Given the description of an element on the screen output the (x, y) to click on. 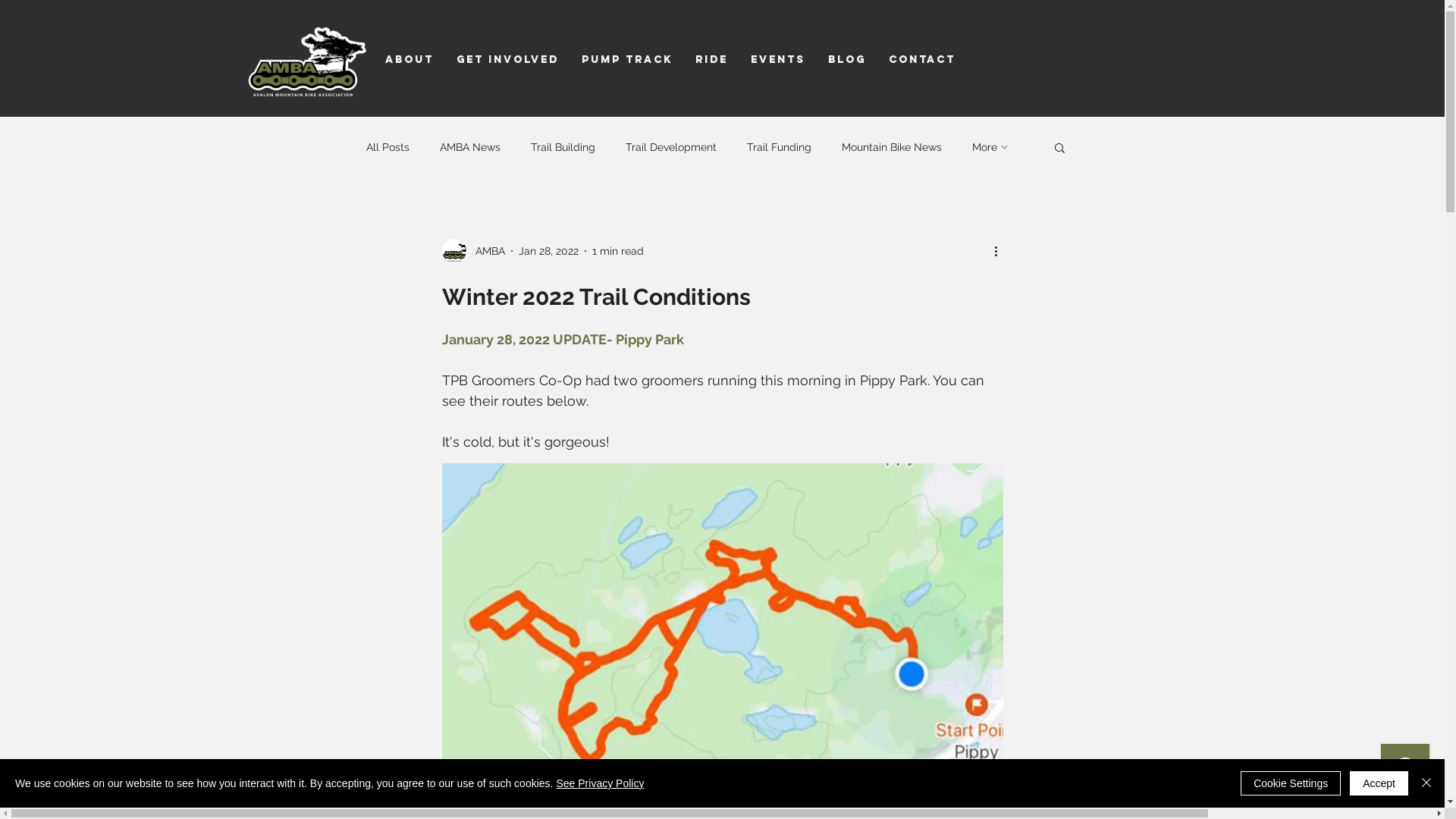
Trail Building Element type: text (562, 147)
Mountain Bike News Element type: text (891, 147)
AMBA News Element type: text (469, 147)
CONTACT Element type: text (921, 59)
EVENTS Element type: text (776, 59)
Trail Funding Element type: text (778, 147)
Cookie Settings Element type: text (1290, 783)
BLOG Element type: text (845, 59)
AMBA Element type: text (472, 250)
Pump Track Element type: text (627, 59)
Trail Development Element type: text (669, 147)
All Posts Element type: text (386, 147)
ABOUT Element type: text (408, 59)
Accept Element type: text (1378, 783)
GET INVOLVED Element type: text (506, 59)
Wix Chat Element type: hover (1408, 771)
RIDE Element type: text (711, 59)
See Privacy Policy Element type: text (599, 783)
